Given the description of an element on the screen output the (x, y) to click on. 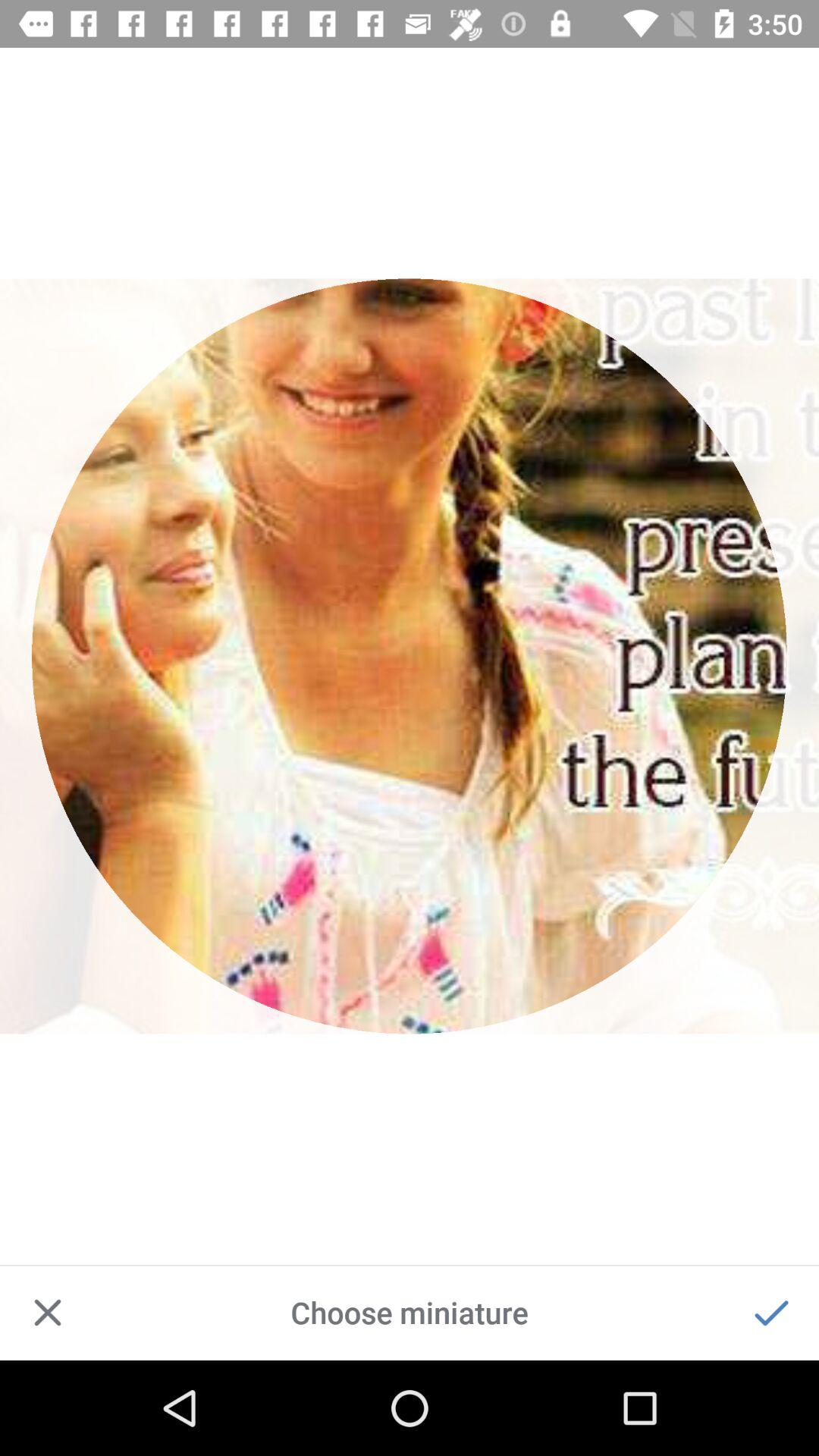
click item to the left of the choose miniature item (47, 1312)
